Given the description of an element on the screen output the (x, y) to click on. 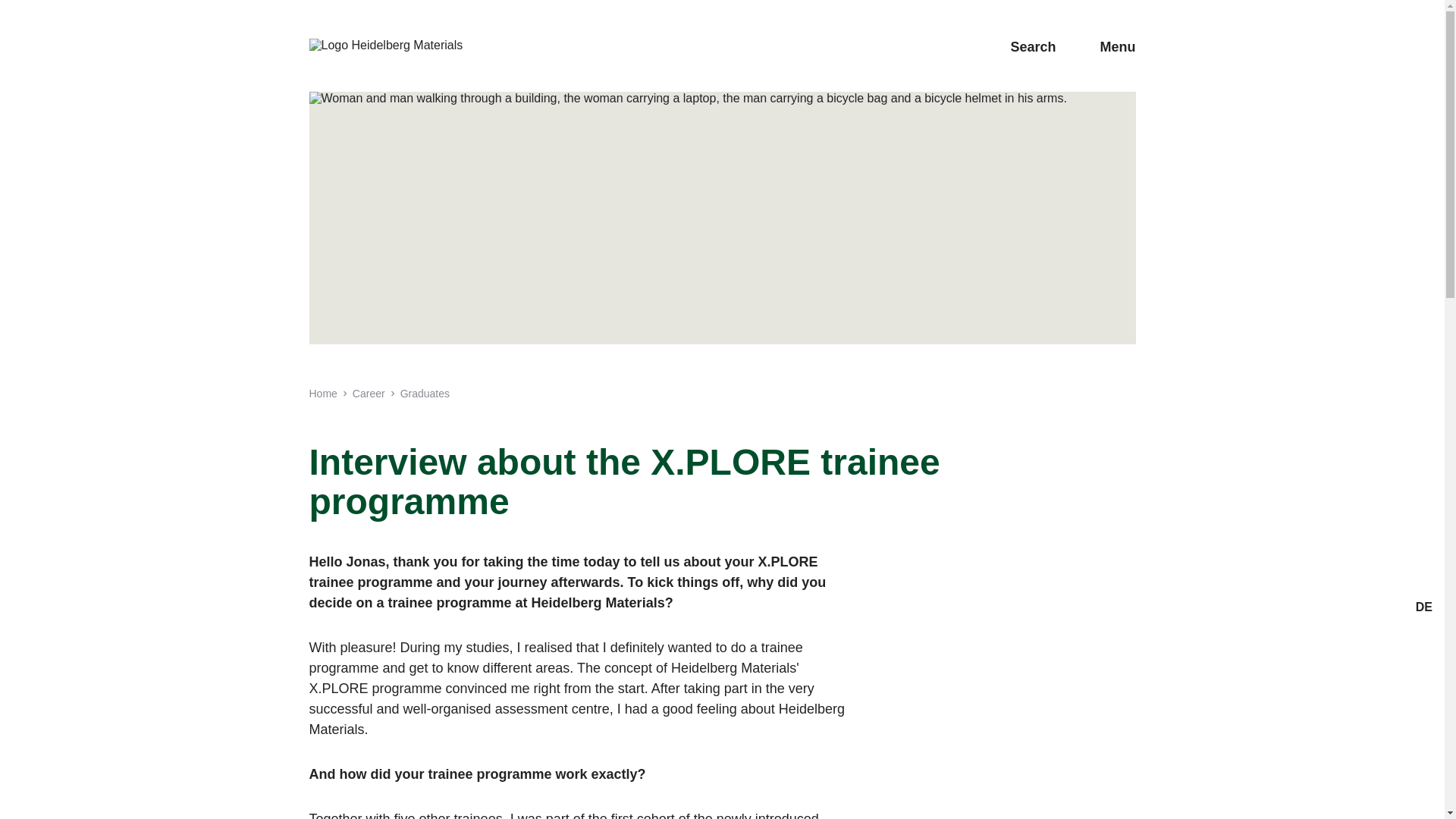
Share (1423, 633)
Open the menu (1107, 47)
Menu (1107, 47)
Search (1022, 47)
Open the search (1022, 47)
